Given the description of an element on the screen output the (x, y) to click on. 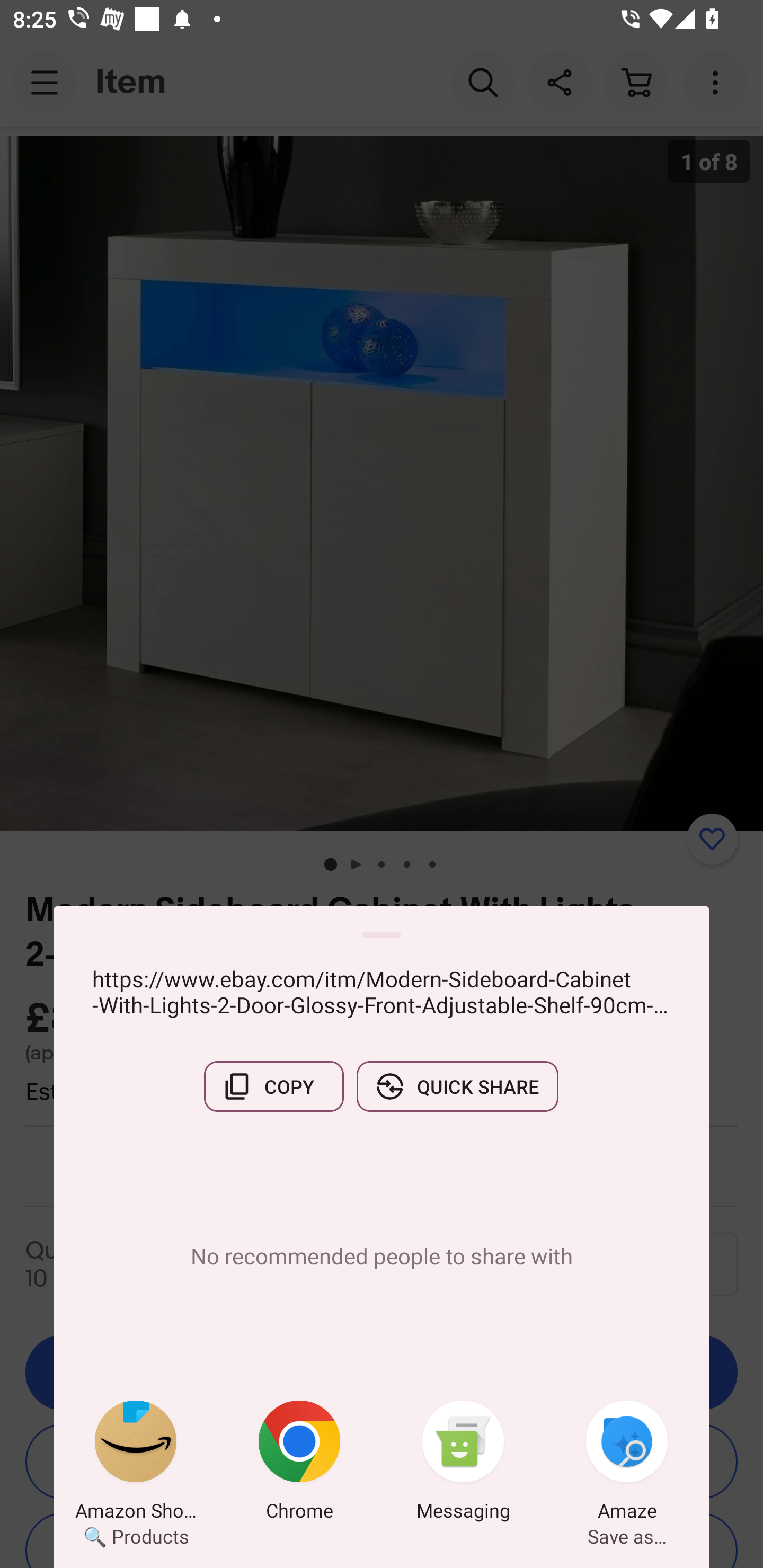
COPY (273, 1086)
QUICK SHARE (457, 1086)
Amazon Shopping 🔍 Products (135, 1463)
Chrome (299, 1463)
Messaging (463, 1463)
Amaze Save as… (626, 1463)
